Given the description of an element on the screen output the (x, y) to click on. 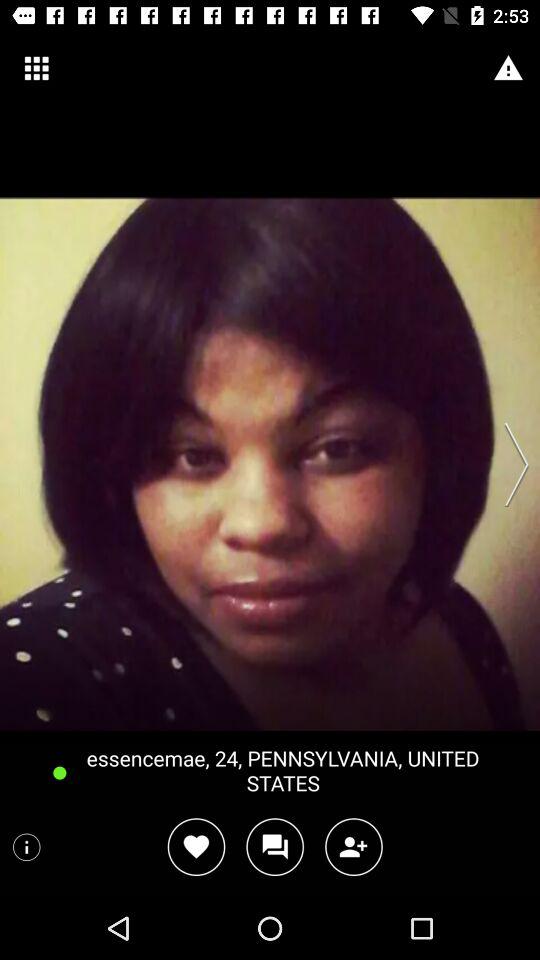
like this selfie (196, 846)
